Given the description of an element on the screen output the (x, y) to click on. 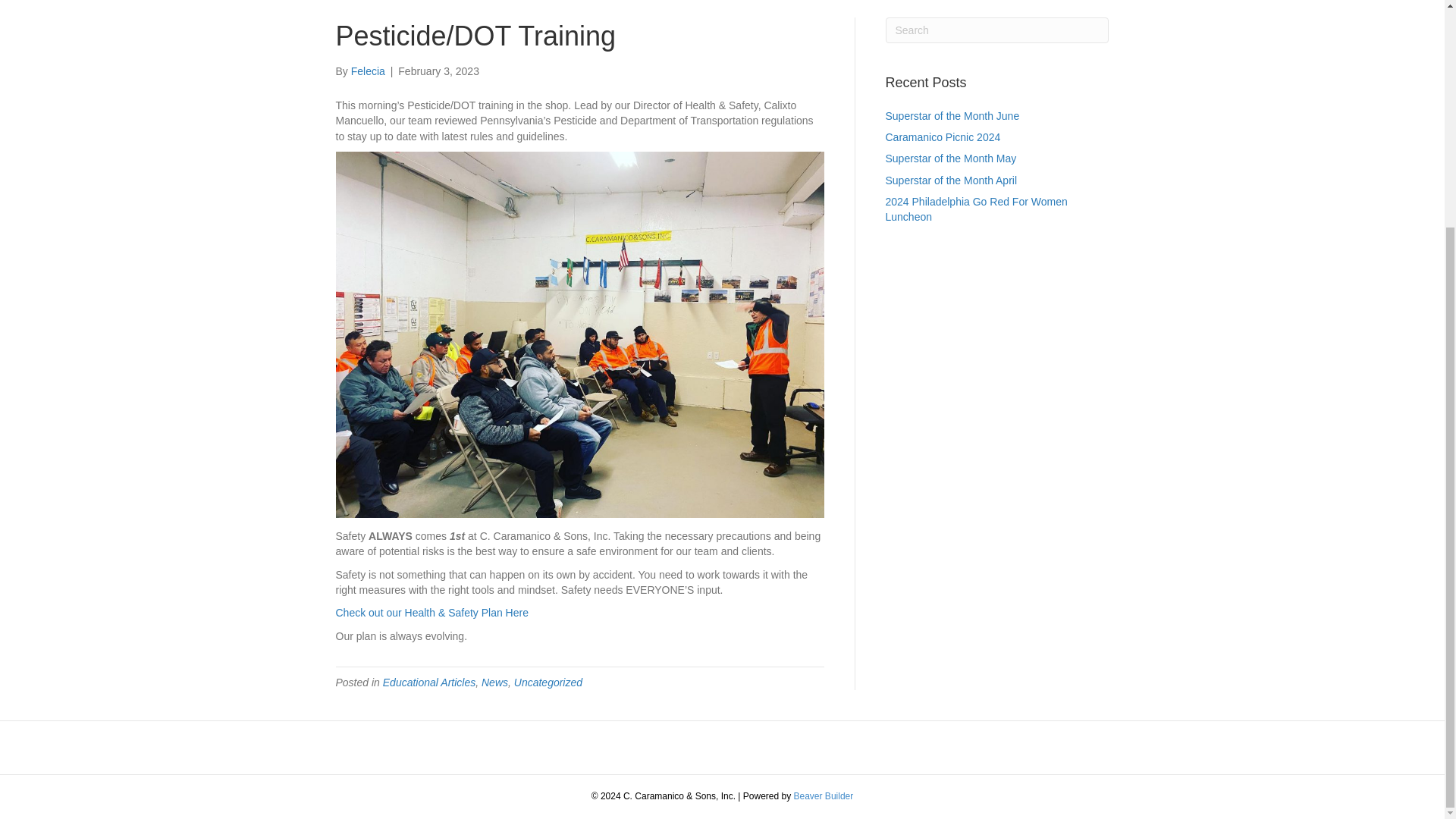
Caramanico Picnic 2024 (943, 137)
Superstar of the Month June (952, 115)
2024 Philadelphia Go Red For Women Luncheon (976, 208)
Educational Articles (429, 682)
Type and press Enter to search. (997, 30)
Felecia (367, 70)
Beaver Builder (823, 796)
WordPress Page Builder Plugin (823, 796)
Uncategorized (547, 682)
News (494, 682)
